Given the description of an element on the screen output the (x, y) to click on. 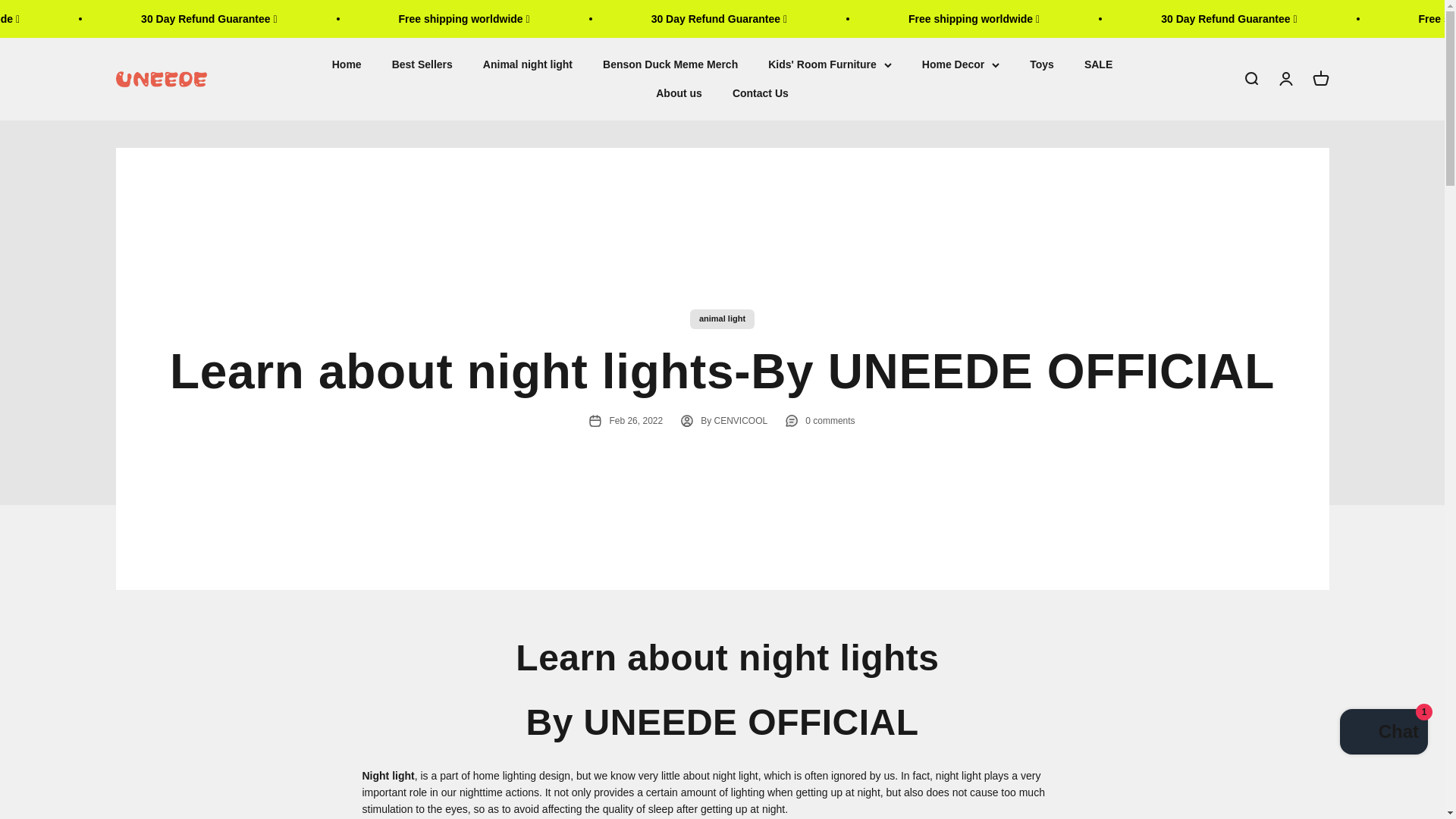
SALE (1098, 64)
Animal night light (527, 64)
UNEEDE (160, 79)
Best Sellers (421, 64)
Contact Us (760, 93)
Open account page (1285, 79)
Home (346, 64)
Benson Duck Meme Merch (670, 64)
Toys (1041, 64)
Open search (1250, 79)
About us (678, 93)
Shopify online store chat (1319, 79)
